Given the description of an element on the screen output the (x, y) to click on. 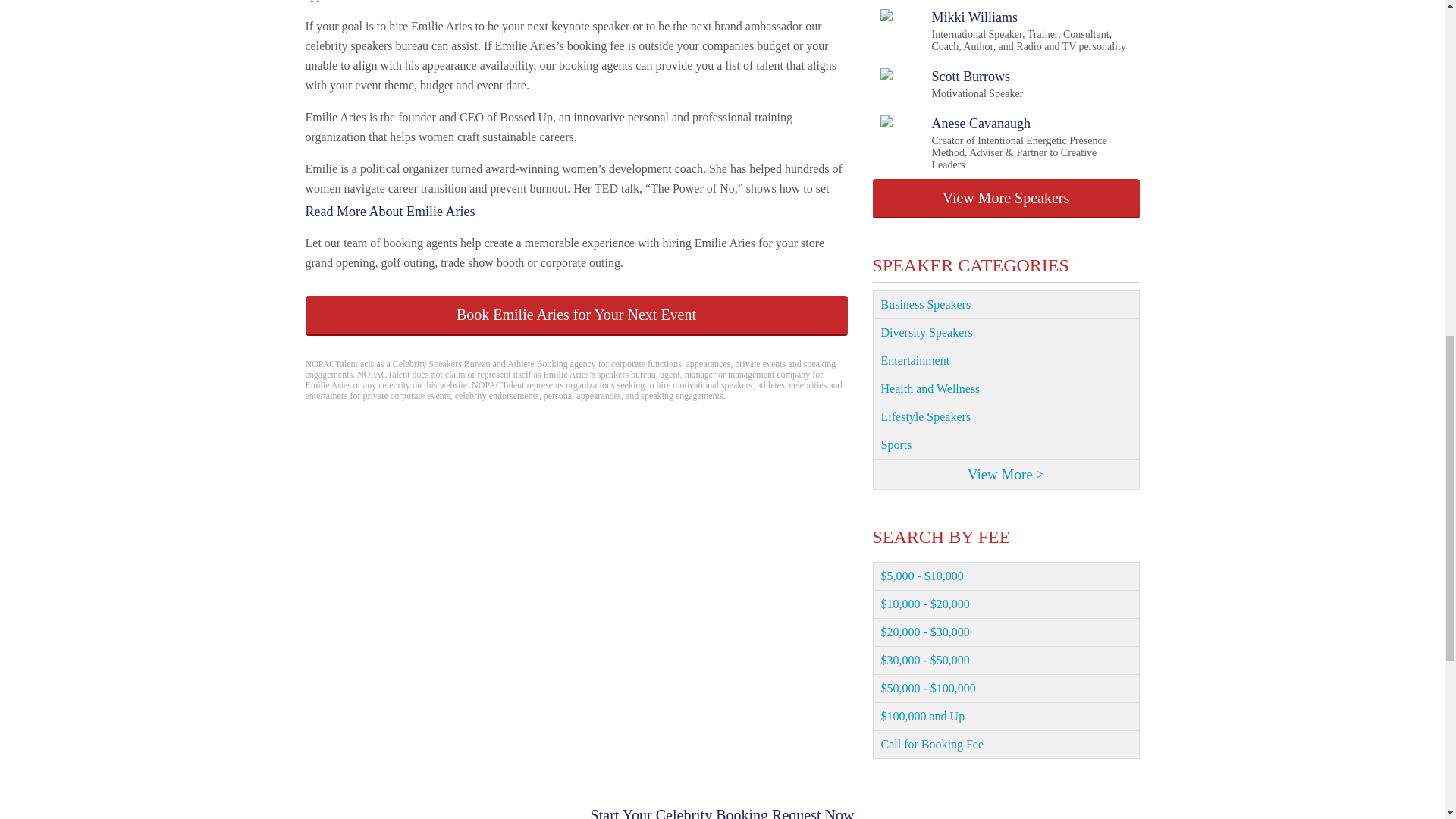
Health and Wellness (1005, 389)
Diversity Speakers (951, 83)
Lifestyle Speakers (1005, 333)
Entertainment (1005, 417)
Book Emilie Aries for Your Next Event (1005, 361)
Business Speakers (575, 315)
View More Speakers (1005, 304)
Sports (1005, 198)
